Given the description of an element on the screen output the (x, y) to click on. 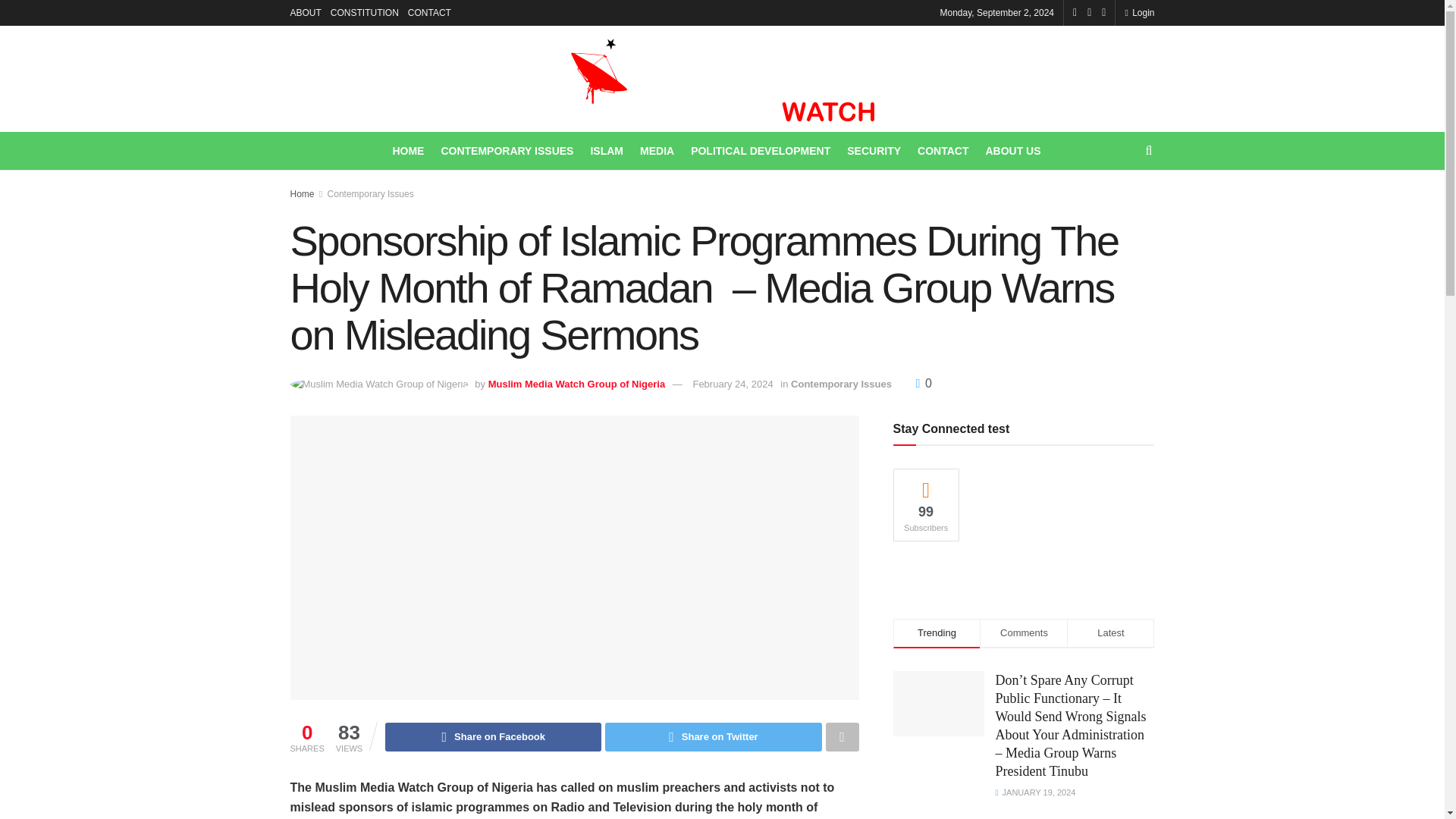
ABOUT (304, 12)
Login (1139, 12)
CONTACT (429, 12)
CONSTITUTION (364, 12)
HOME (407, 150)
CONTEMPORARY ISSUES (507, 150)
